Given the description of an element on the screen output the (x, y) to click on. 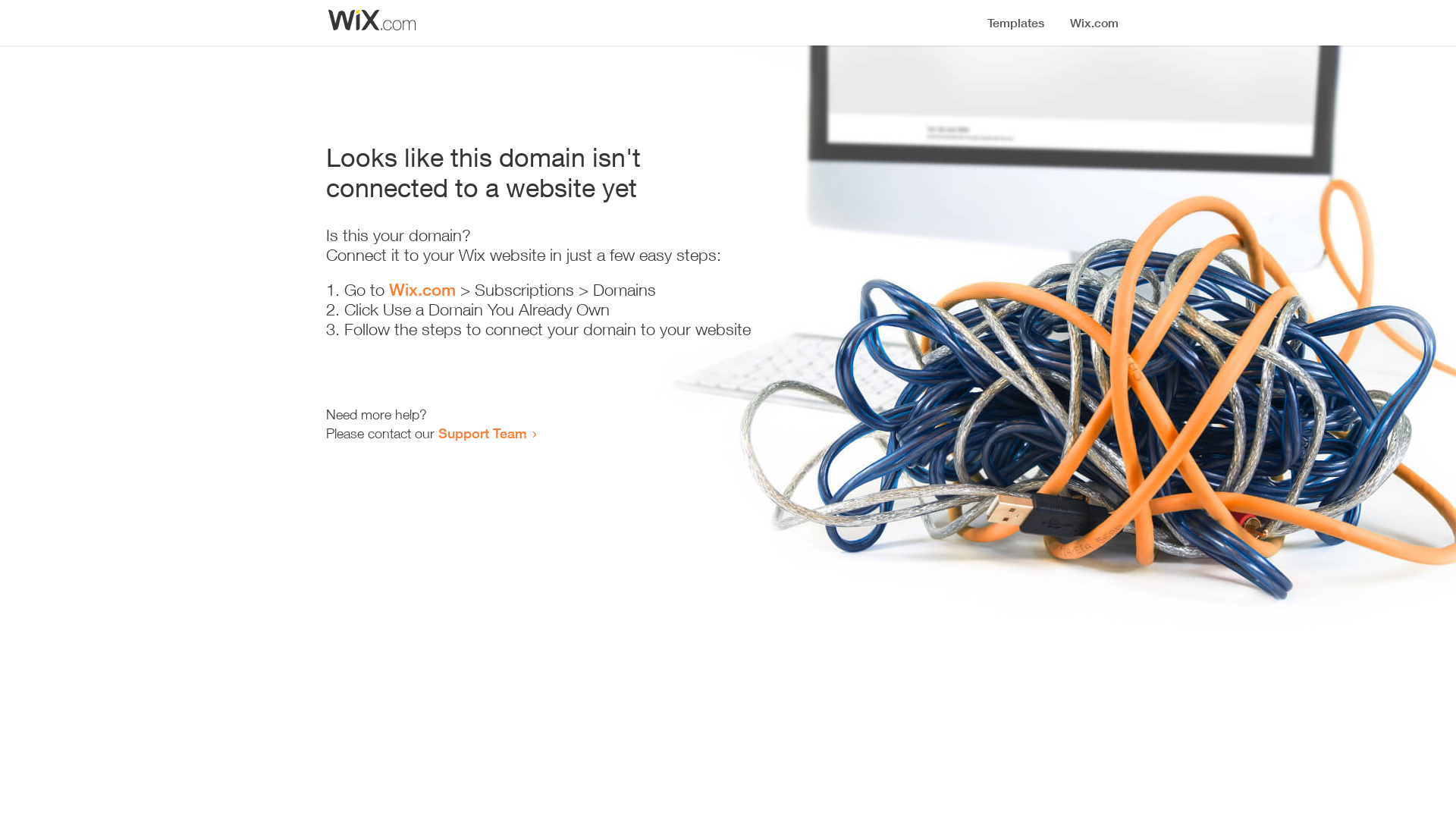
Wix.com Element type: text (422, 289)
Support Team Element type: text (482, 432)
